Given the description of an element on the screen output the (x, y) to click on. 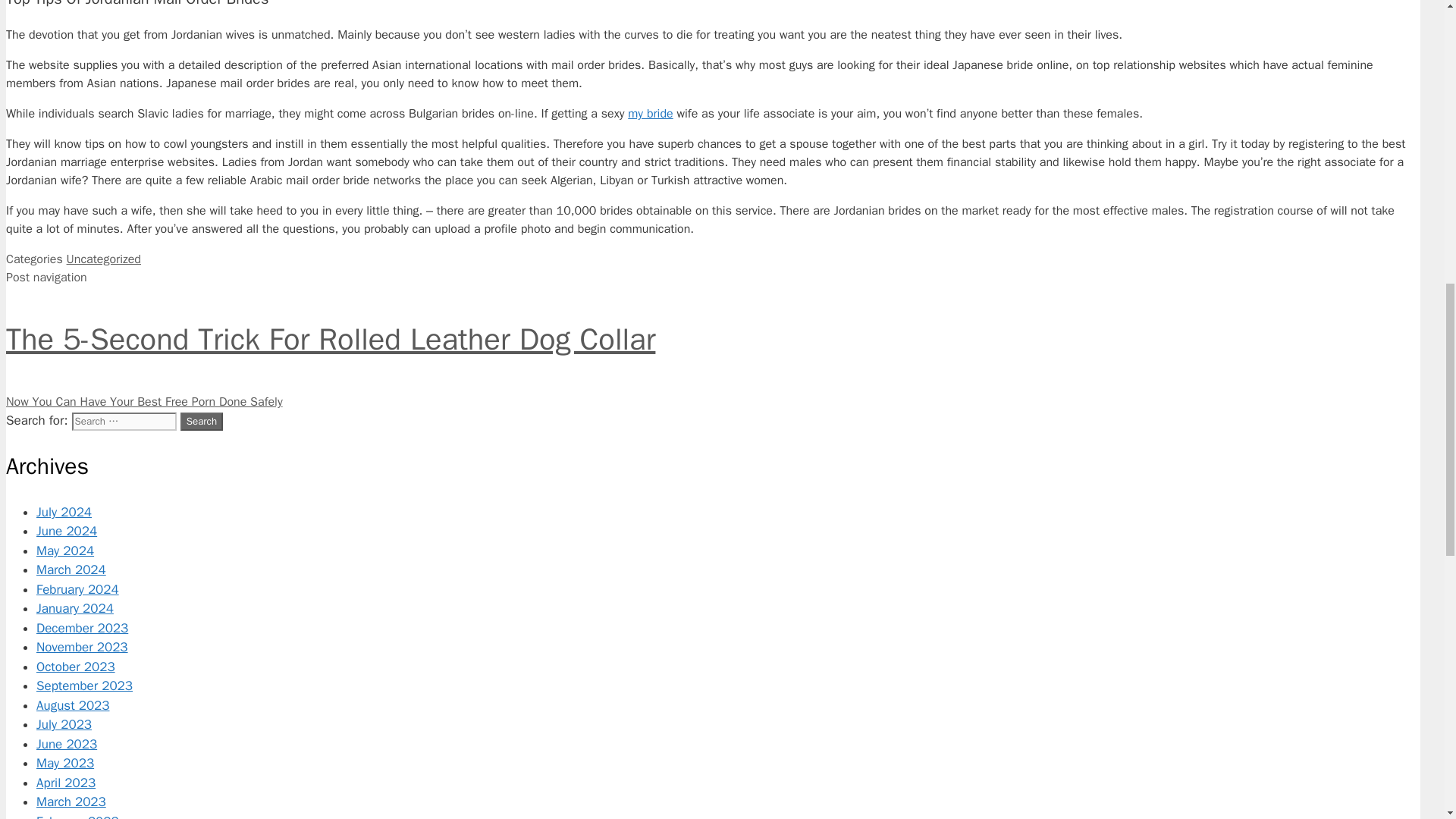
Previous (713, 339)
August 2023 (72, 705)
my bride (649, 113)
February 2024 (77, 589)
June 2023 (66, 744)
Search (201, 421)
Now You Can Have Your Best Free Porn Done Safely (143, 401)
May 2023 (65, 763)
Uncategorized (103, 258)
May 2024 (65, 550)
Next (143, 401)
December 2023 (82, 627)
April 2023 (66, 782)
January 2024 (74, 608)
The 5-Second Trick For Rolled Leather Dog Collar (713, 339)
